Given the description of an element on the screen output the (x, y) to click on. 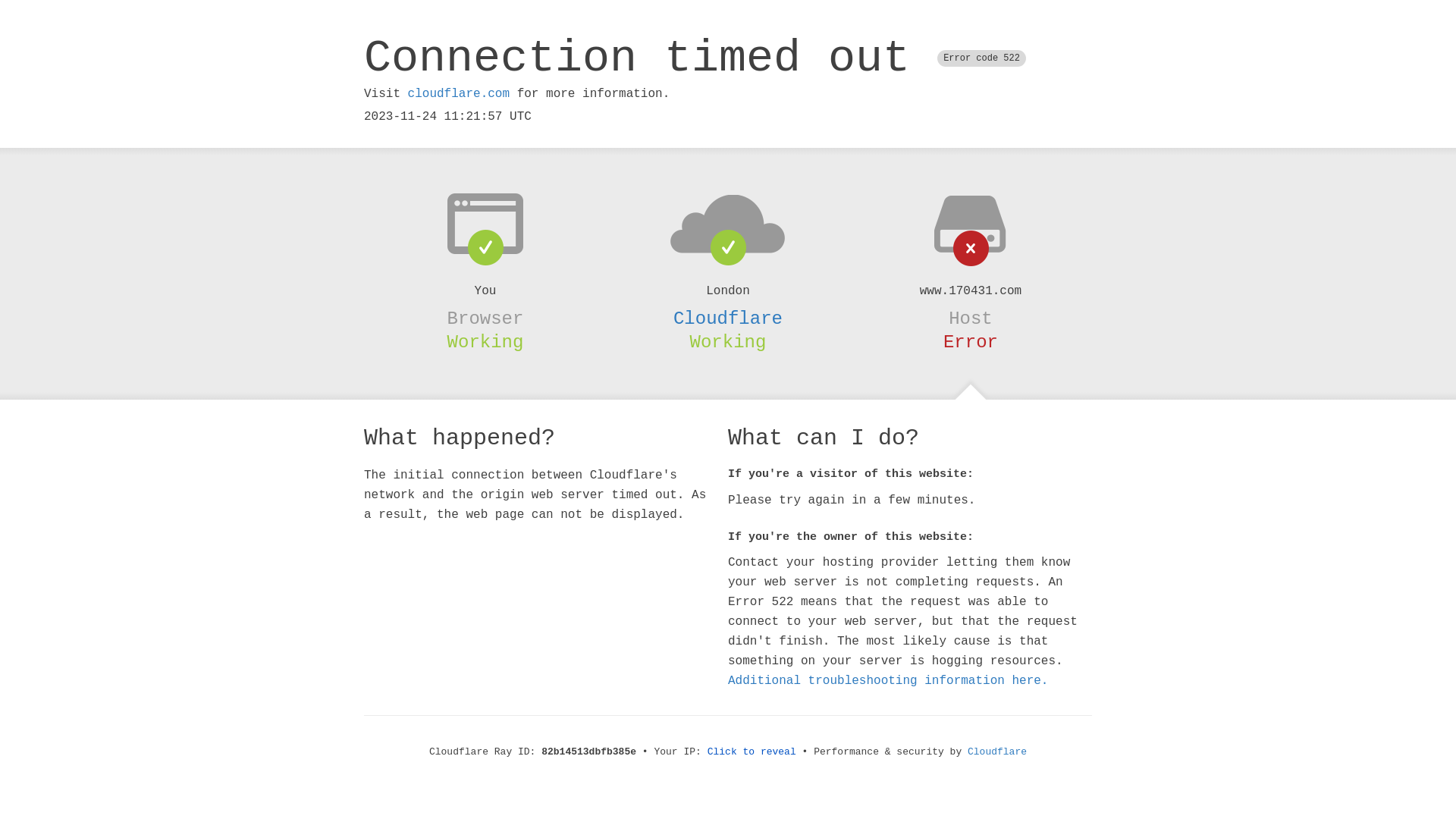
Additional troubleshooting information here. Element type: text (888, 680)
Click to reveal Element type: text (751, 751)
Cloudflare Element type: text (727, 318)
Cloudflare Element type: text (996, 751)
cloudflare.com Element type: text (458, 93)
